Given the description of an element on the screen output the (x, y) to click on. 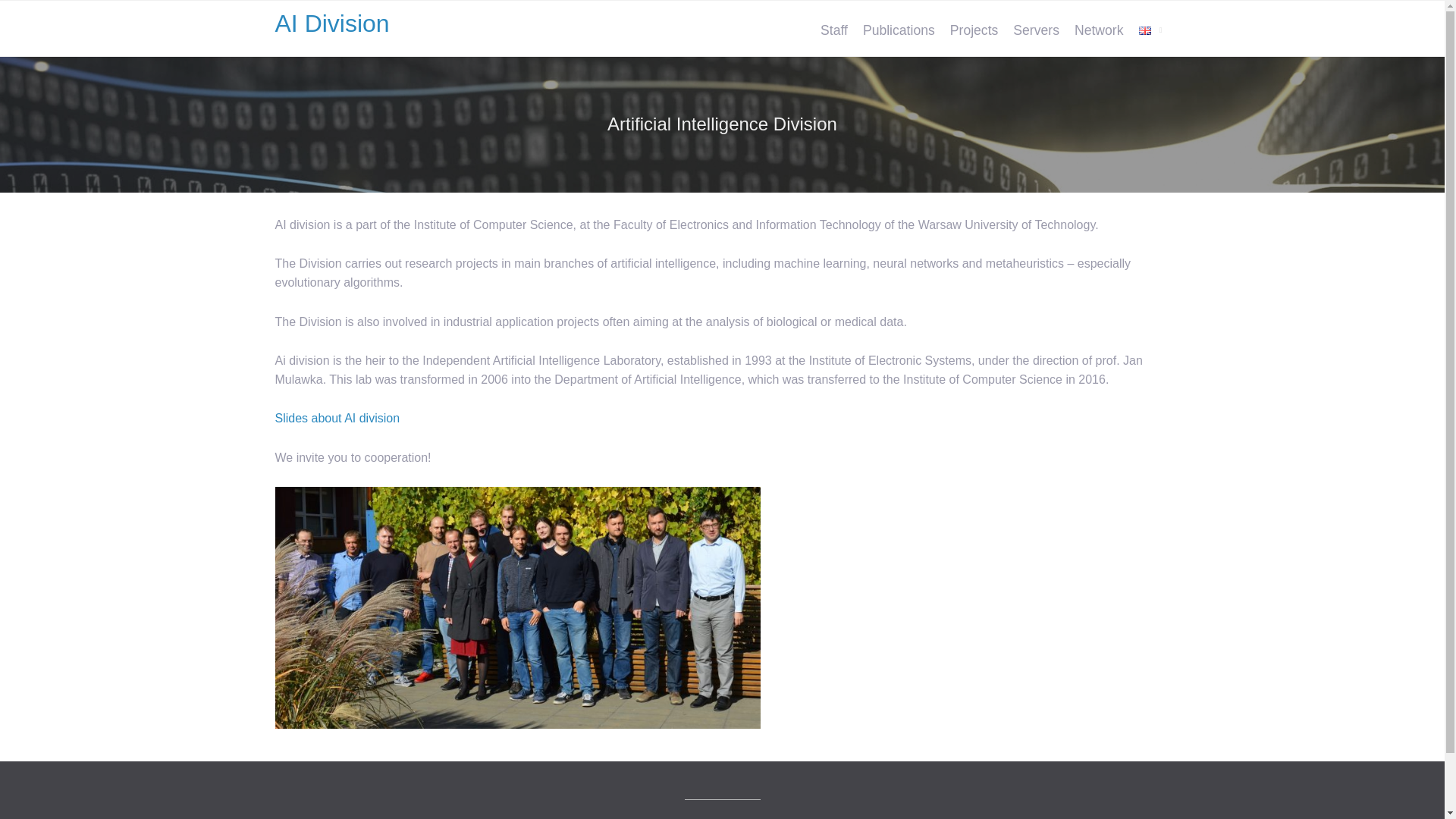
Projects (974, 30)
Servers (1036, 30)
Publications (899, 30)
AI Division (331, 22)
Network (1099, 30)
Slides about AI division (336, 418)
Staff (834, 30)
